Given the description of an element on the screen output the (x, y) to click on. 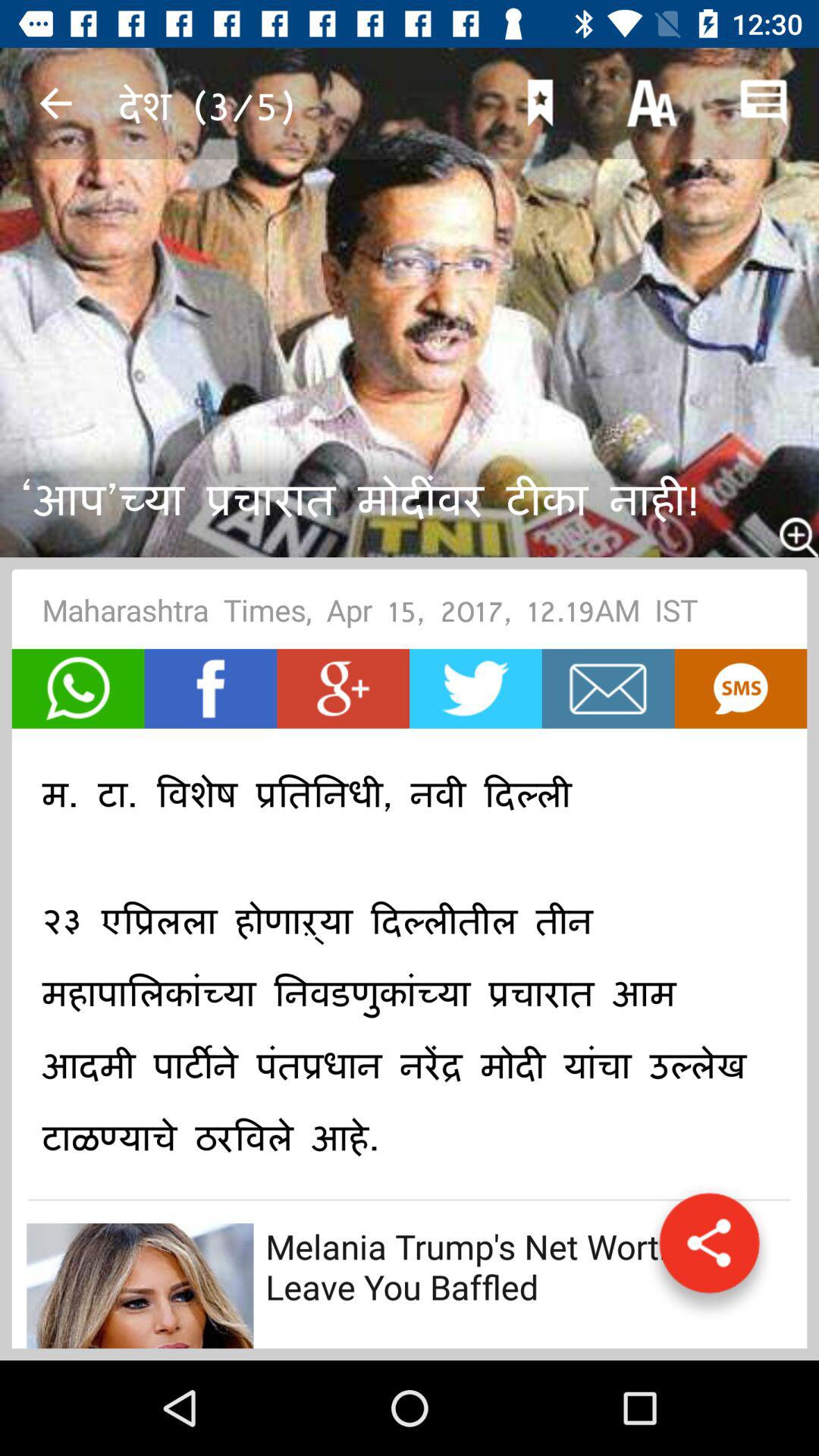
tweet article (475, 688)
